Given the description of an element on the screen output the (x, y) to click on. 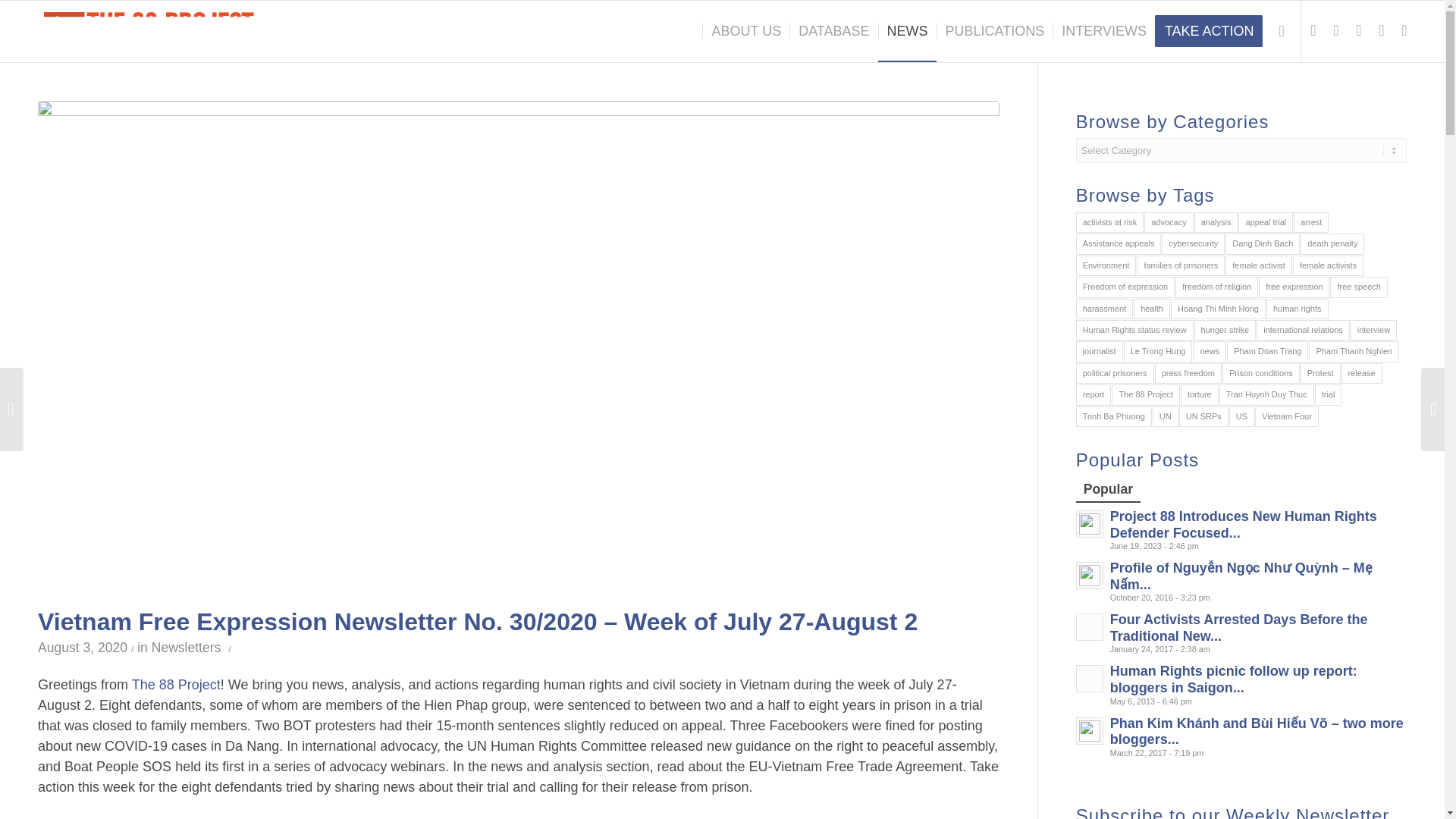
88project (149, 24)
Mail (1404, 29)
PUBLICATIONS (994, 30)
Youtube (1336, 29)
INTERVIEWS (1103, 30)
Facebook (1381, 29)
NEWS (906, 30)
DATABASE (833, 30)
Newsletters (186, 647)
ABOUT US (745, 30)
